Given the description of an element on the screen output the (x, y) to click on. 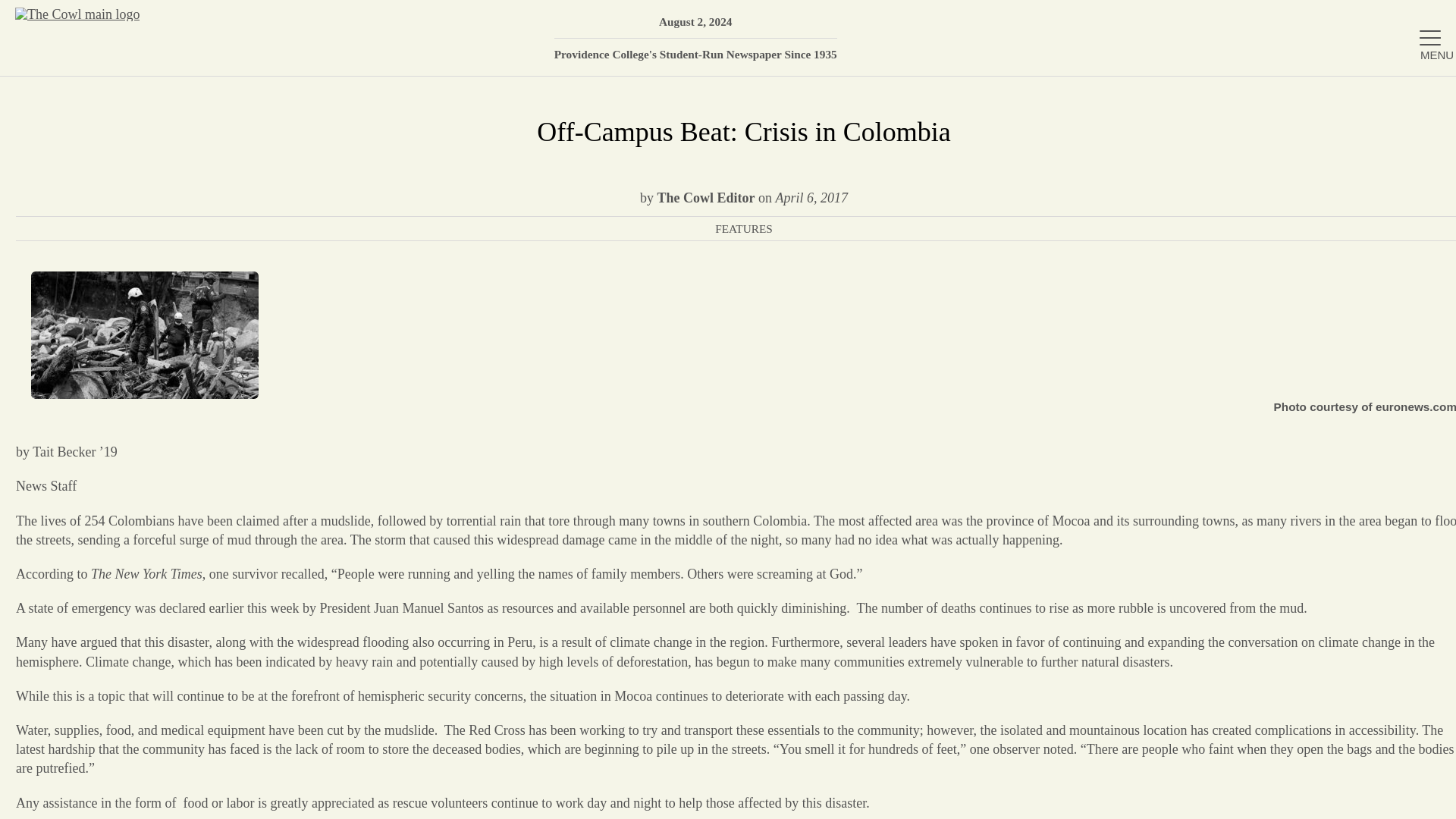
Search (1422, 19)
News (1275, 174)
Search (1422, 19)
Search (1422, 19)
Sports (1275, 370)
Portfolio (1275, 321)
Home (1275, 74)
Opinion (1275, 272)
About Us (1275, 124)
Letters to the Editor (1275, 420)
